Given the description of an element on the screen output the (x, y) to click on. 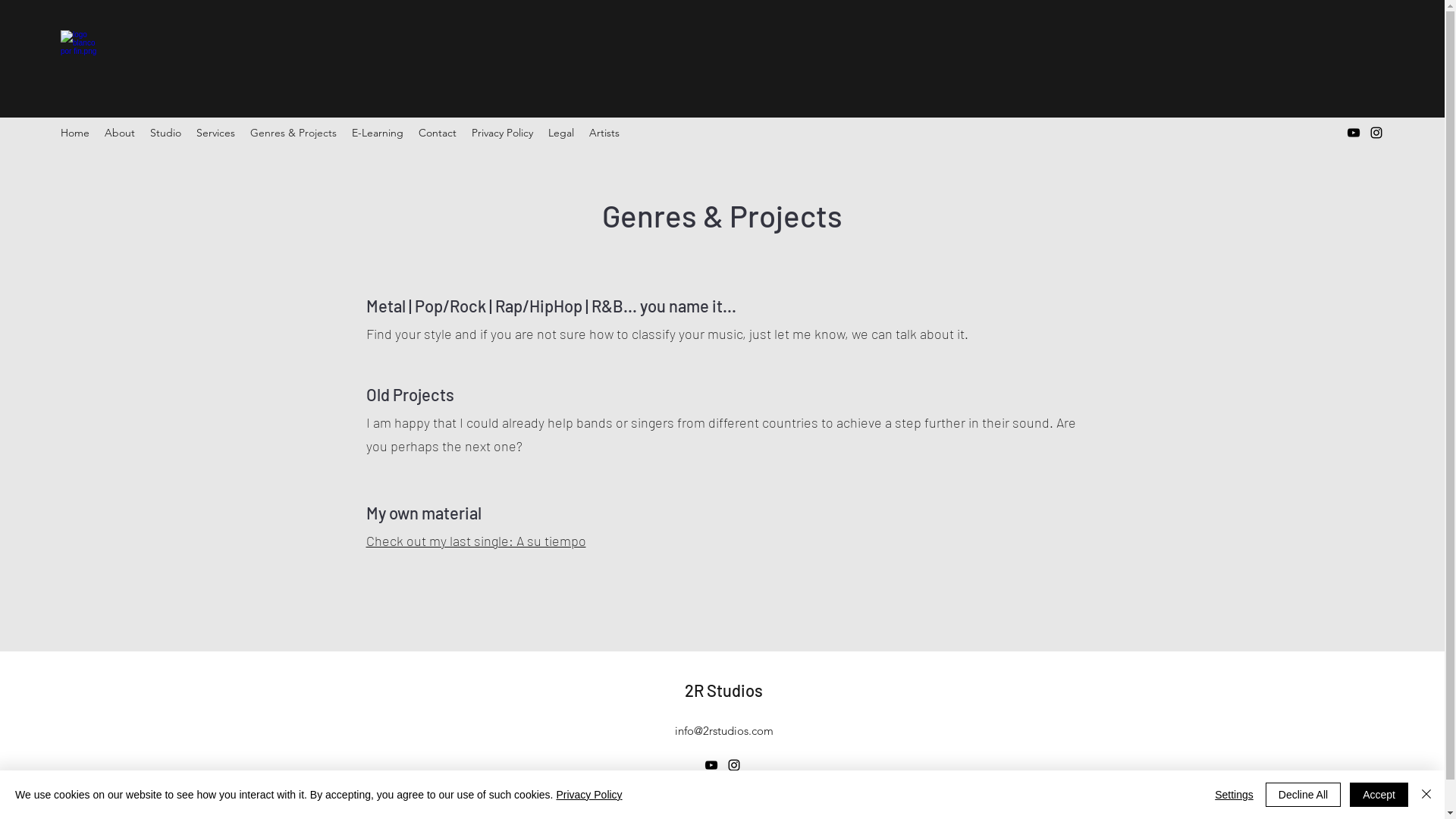
About Element type: text (119, 132)
2R Studios Element type: text (723, 689)
Legal Element type: text (560, 132)
Studio Element type: text (165, 132)
Home Element type: text (75, 132)
Genres & Projects Element type: text (293, 132)
Check out my last single: A su tiempo Element type: text (475, 540)
Privacy Policy Element type: text (502, 132)
E-Learning Element type: text (377, 132)
Artists Element type: text (604, 132)
Contact Element type: text (437, 132)
info@2rstudios.com Element type: text (723, 730)
Services Element type: text (215, 132)
